Given the description of an element on the screen output the (x, y) to click on. 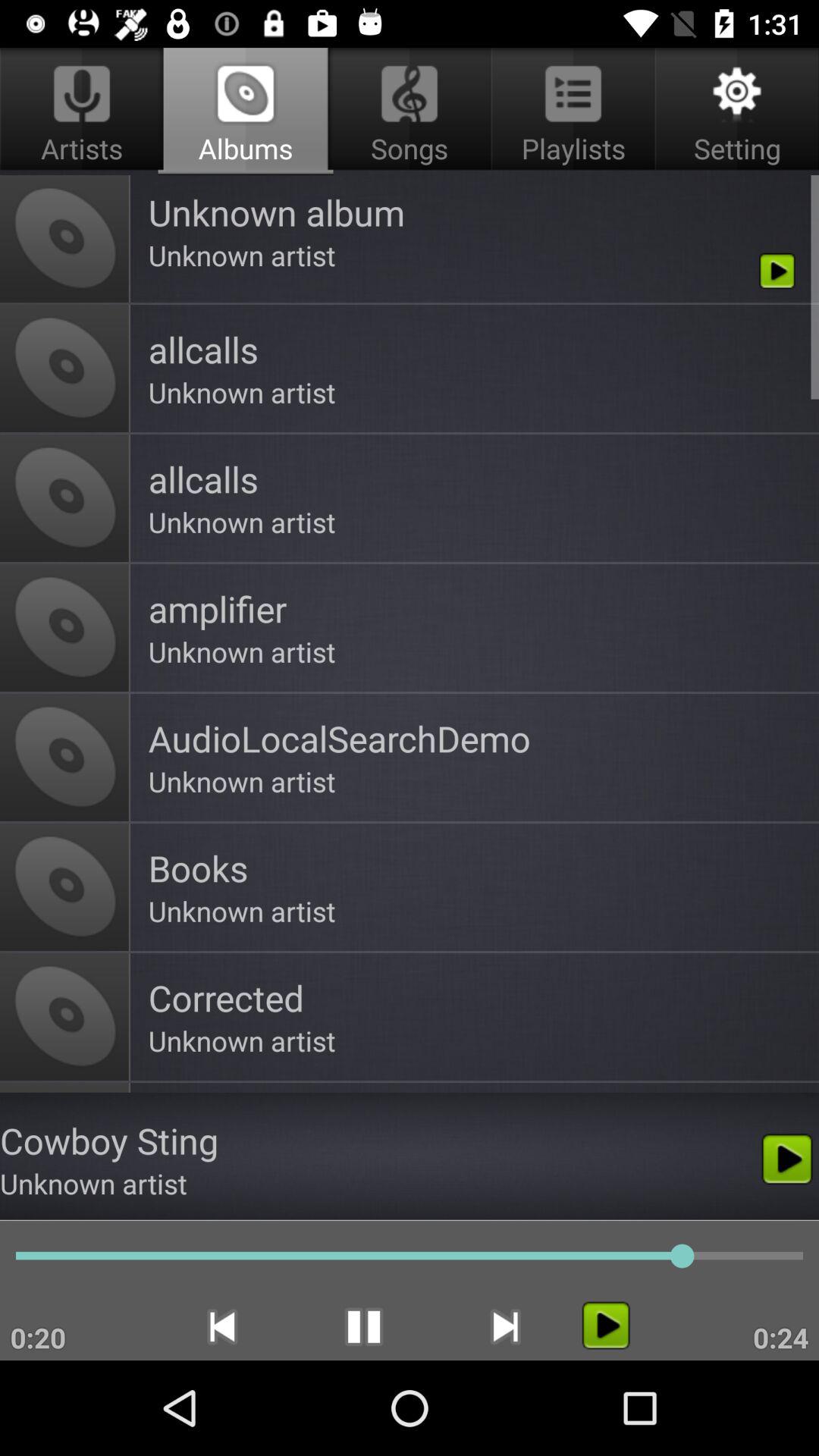
play (605, 1325)
